Given the description of an element on the screen output the (x, y) to click on. 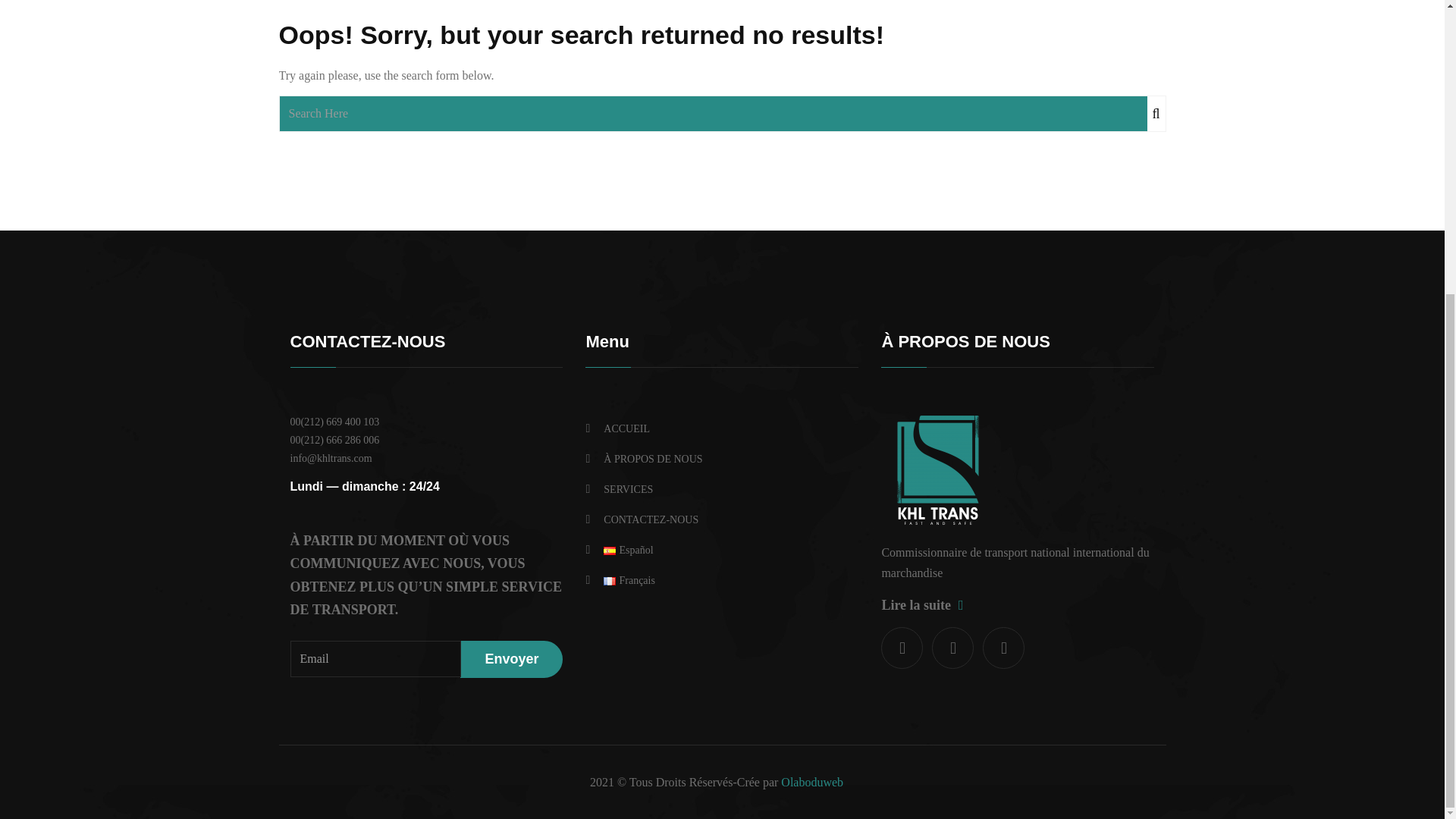
CONTACTEZ-NOUS (722, 519)
Envoyer (511, 659)
SERVICES (722, 489)
ACCUEIL (722, 428)
Lire la suite (921, 604)
Olaboduweb (811, 781)
Envoyer (511, 659)
